Given the description of an element on the screen output the (x, y) to click on. 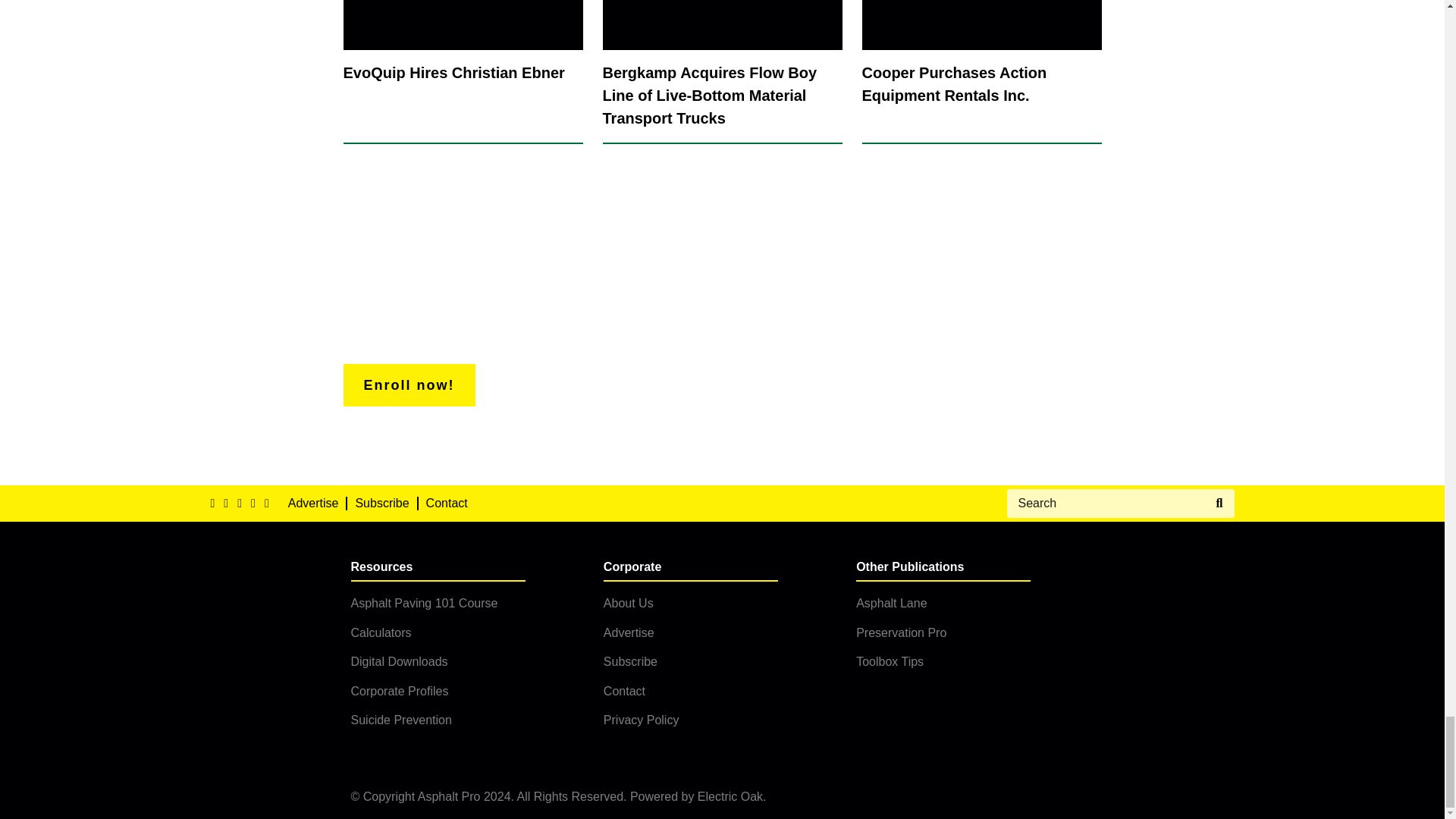
EvoQuip Hires Christian Ebner (462, 72)
Enroll now! (408, 385)
Cooper Purchases Action Equipment Rentals Inc. (980, 72)
